Given the description of an element on the screen output the (x, y) to click on. 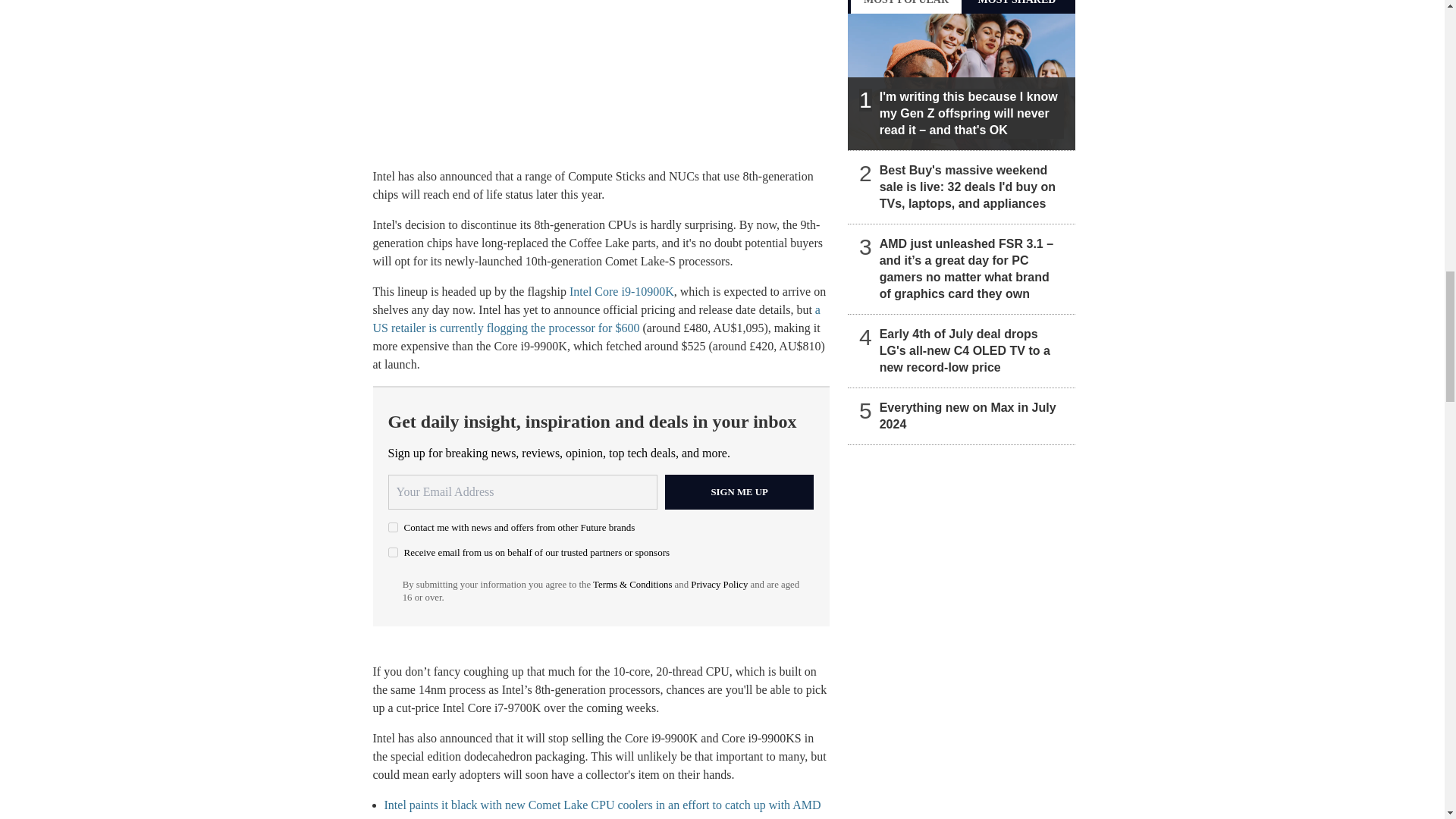
on (392, 527)
Sign me up (739, 492)
on (392, 552)
